Given the description of an element on the screen output the (x, y) to click on. 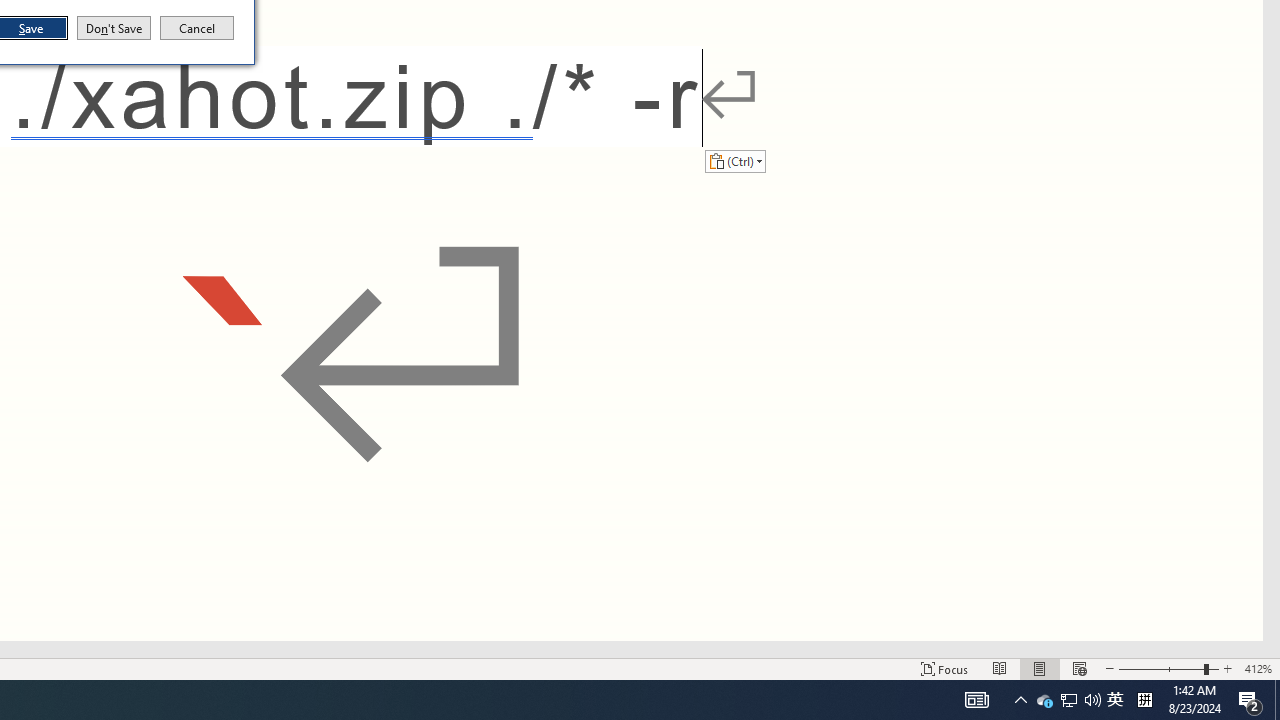
Focus  (944, 668)
Tray Input Indicator - Chinese (Simplified, China) (1144, 699)
Show desktop (1277, 699)
Action: Paste alternatives (735, 160)
AutomationID: 4105 (976, 699)
Don't Save (113, 27)
Action Center, 2 new notifications (1250, 699)
